Given the description of an element on the screen output the (x, y) to click on. 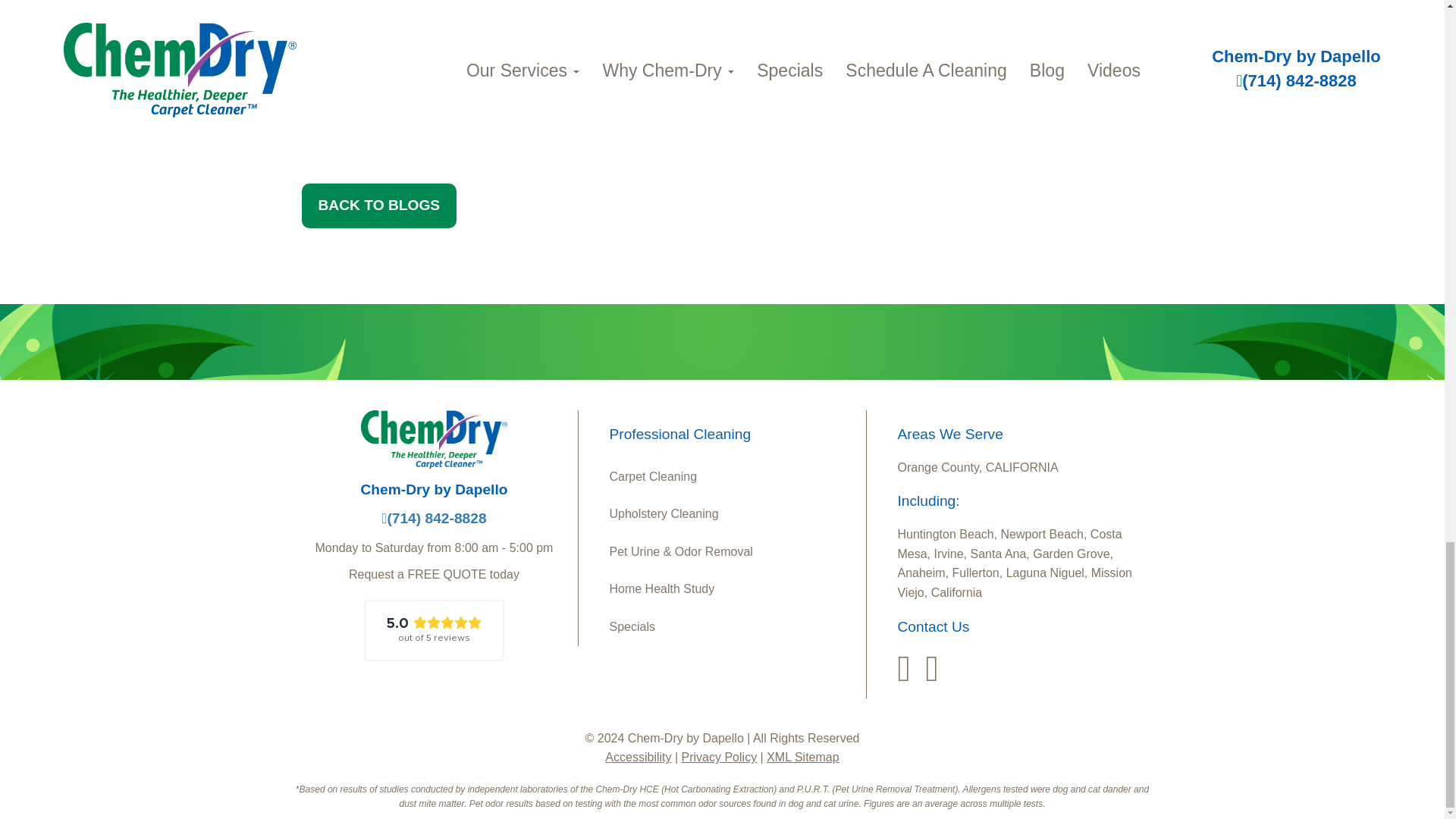
Call Chem-Dry (433, 518)
Chem-Dry Coupons (731, 627)
Upholstery Cleaning (731, 514)
Upholstery Cleaning (731, 514)
Privacy Policy (719, 757)
Learn about our Home Health Study (731, 589)
Carpet Cleaning (731, 476)
Accessibility Disclosure (638, 757)
Home Health Study (731, 589)
Learn about our Residential Services (731, 476)
Specials (731, 627)
BACK TO BLOGS (379, 205)
Accessibility (638, 757)
